Given the description of an element on the screen output the (x, y) to click on. 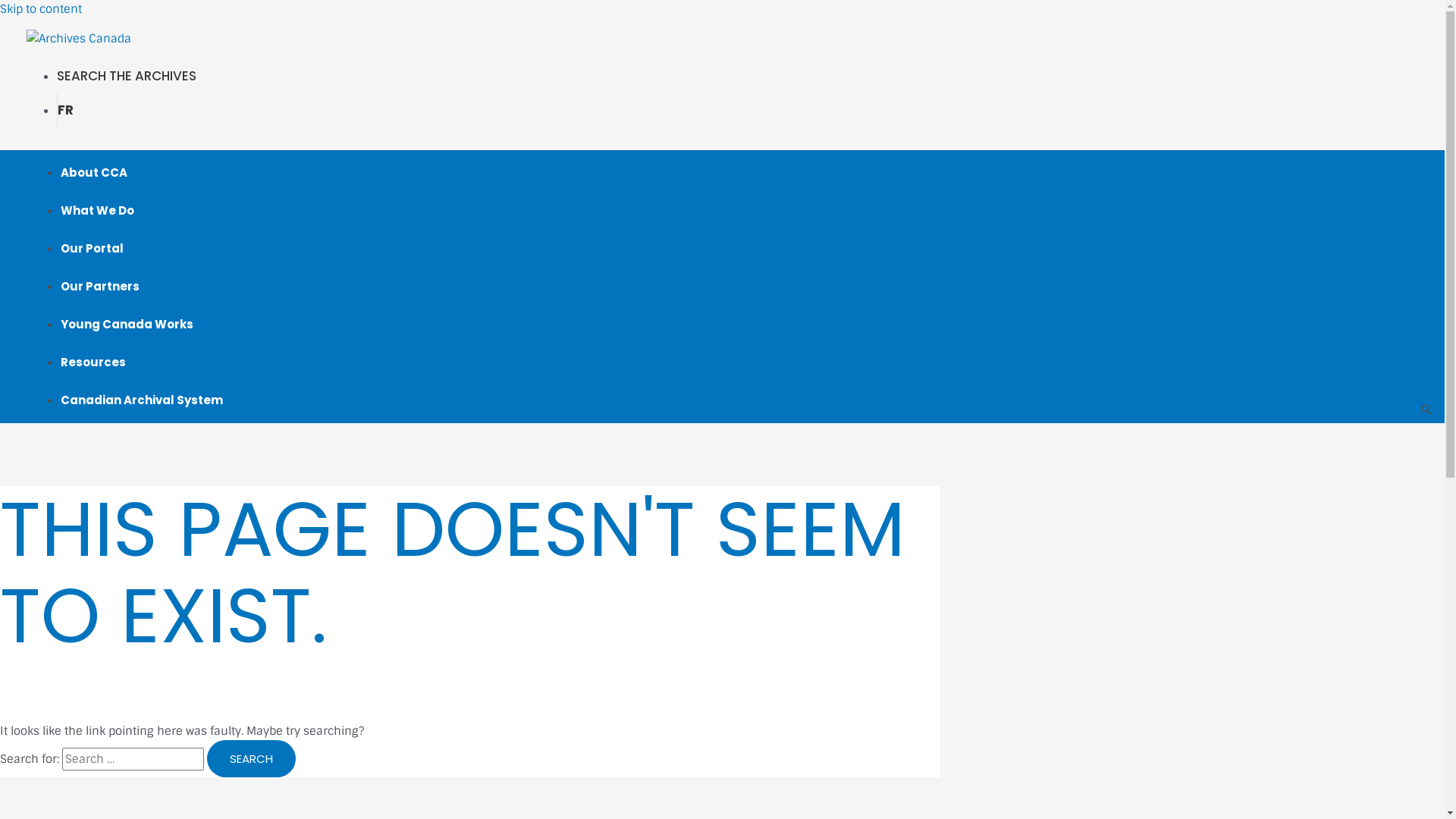
What We Do Element type: text (97, 210)
Canadian Archival System Element type: text (141, 399)
Resources Element type: text (92, 362)
Search Element type: text (251, 758)
FR Element type: text (65, 109)
Skip to content Element type: text (40, 8)
Our Partners Element type: text (99, 286)
Our Portal Element type: text (91, 248)
About CCA Element type: text (93, 172)
SEARCH THE ARCHIVES Element type: text (126, 75)
Young Canada Works Element type: text (126, 324)
